Given the description of an element on the screen output the (x, y) to click on. 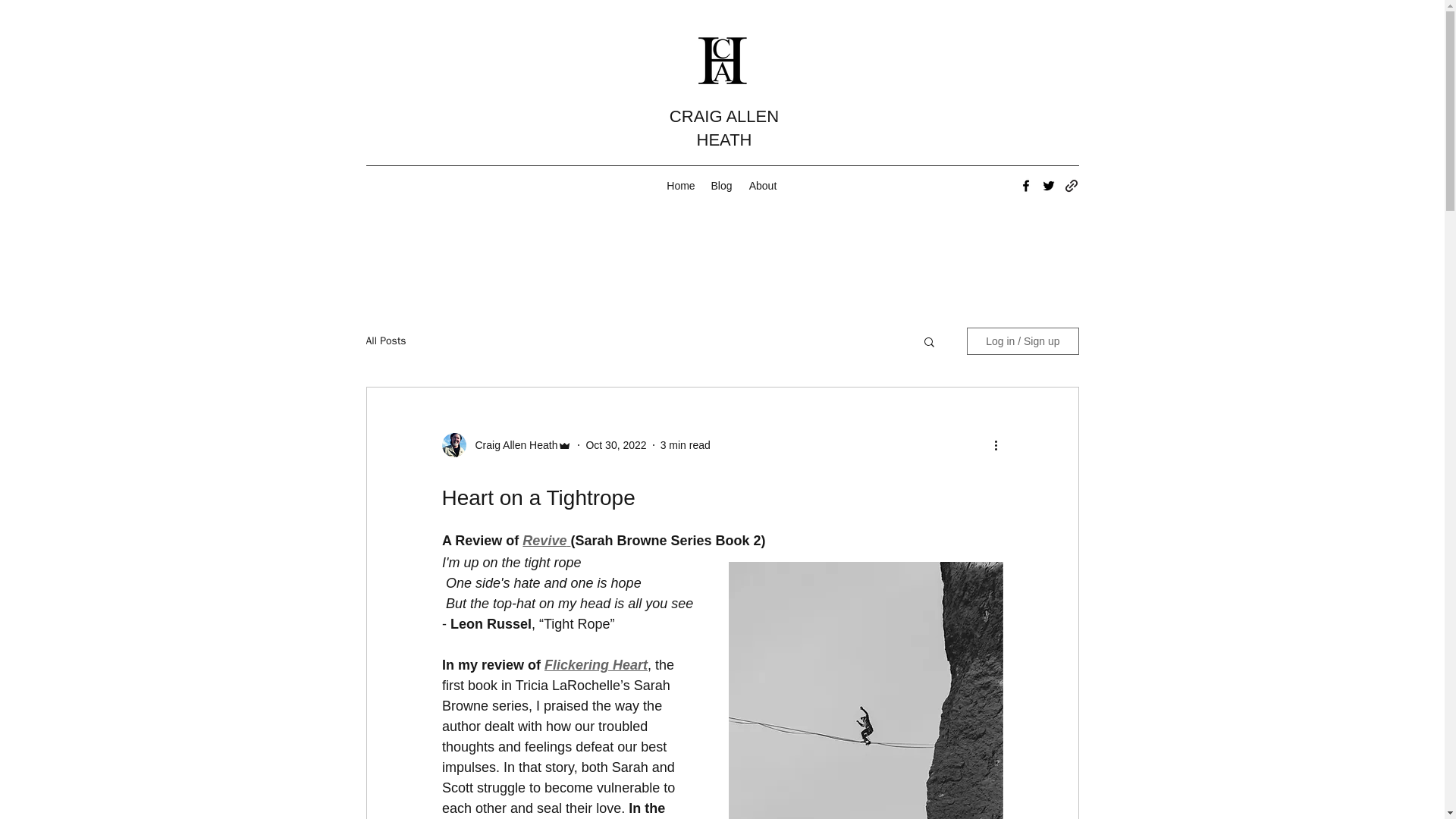
Home (681, 185)
CRAIG ALLEN HEATH (723, 128)
Oct 30, 2022 (615, 444)
Flickering Heart (595, 664)
About (762, 185)
Craig Allen Heath (511, 445)
All Posts (385, 341)
3 min read (685, 444)
Blog (721, 185)
Revive (544, 540)
